Given the description of an element on the screen output the (x, y) to click on. 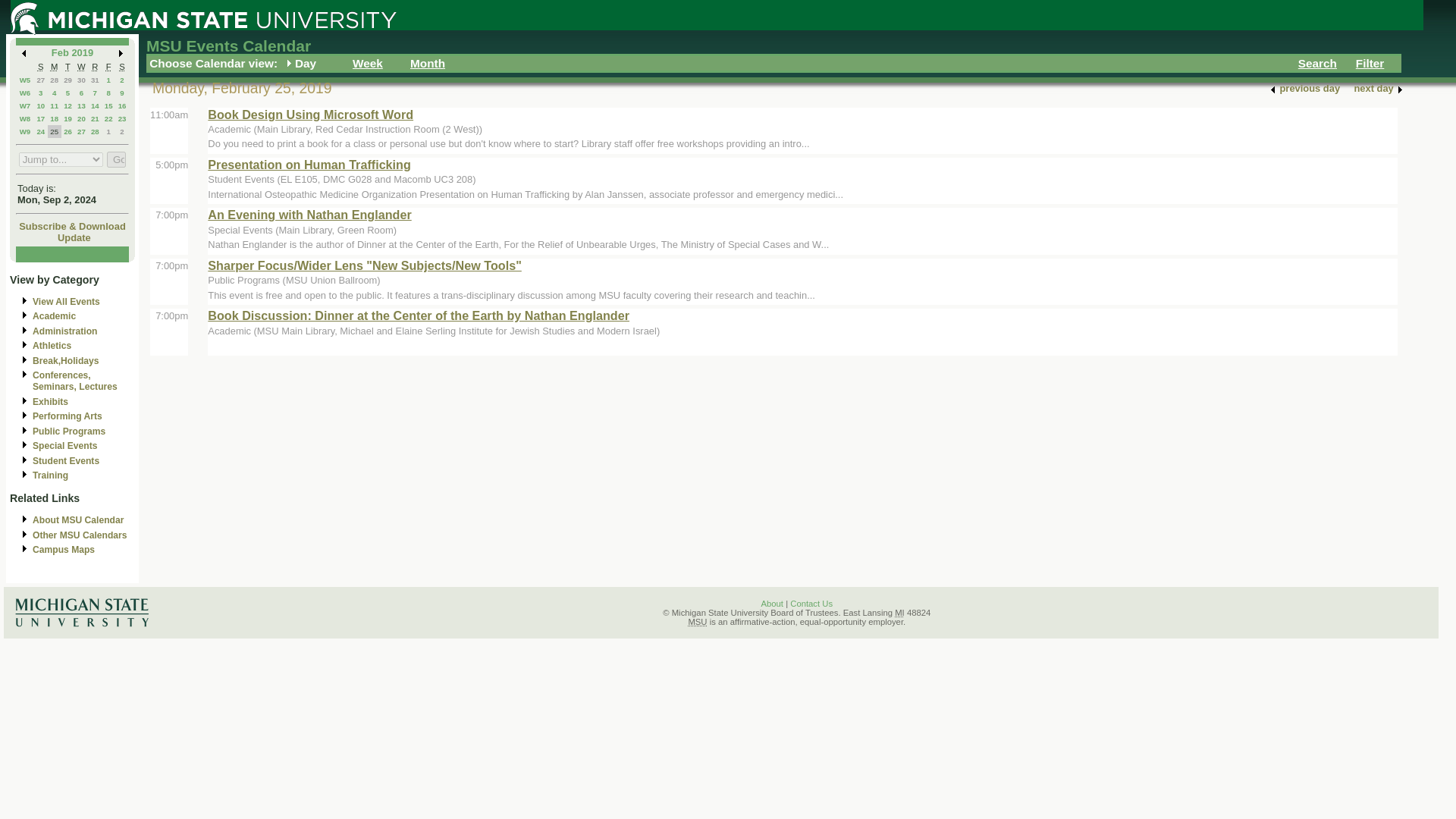
18 (53, 118)
W8 (25, 118)
19 (67, 118)
Michigan (899, 612)
W6 (25, 92)
22 (108, 118)
30 (81, 80)
W5 (25, 80)
W7 (25, 105)
21 (94, 118)
